Given the description of an element on the screen output the (x, y) to click on. 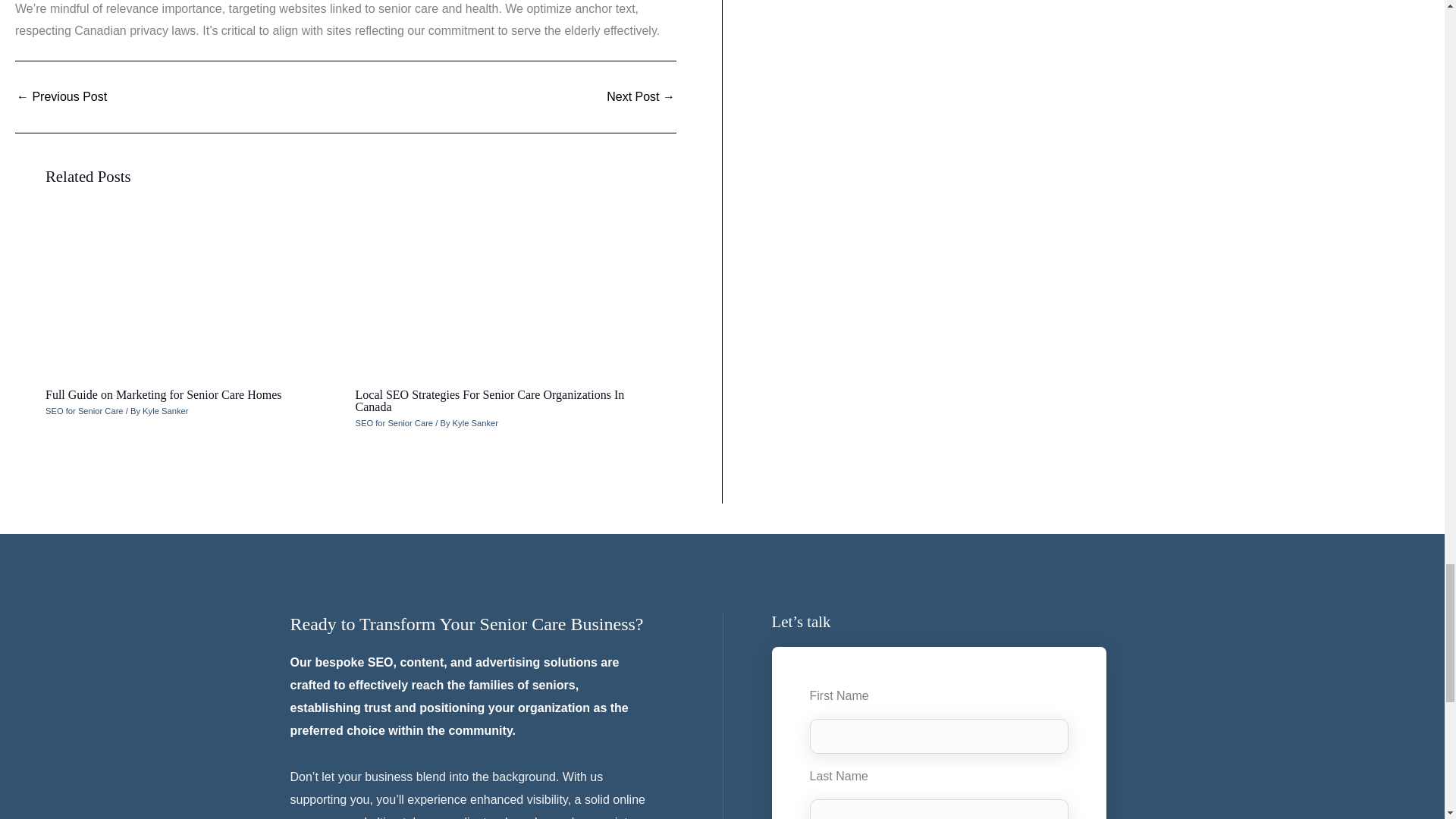
View all posts by Kyle Sanker (474, 422)
How to Rank for "Near Me" Searches in Senior Care SEO (641, 96)
Full Guide On Marketing For Senior Care Homes 3 (190, 294)
Web Design Essentials for Senior Care Mobile Users (61, 96)
View all posts by Kyle Sanker (164, 410)
